Given the description of an element on the screen output the (x, y) to click on. 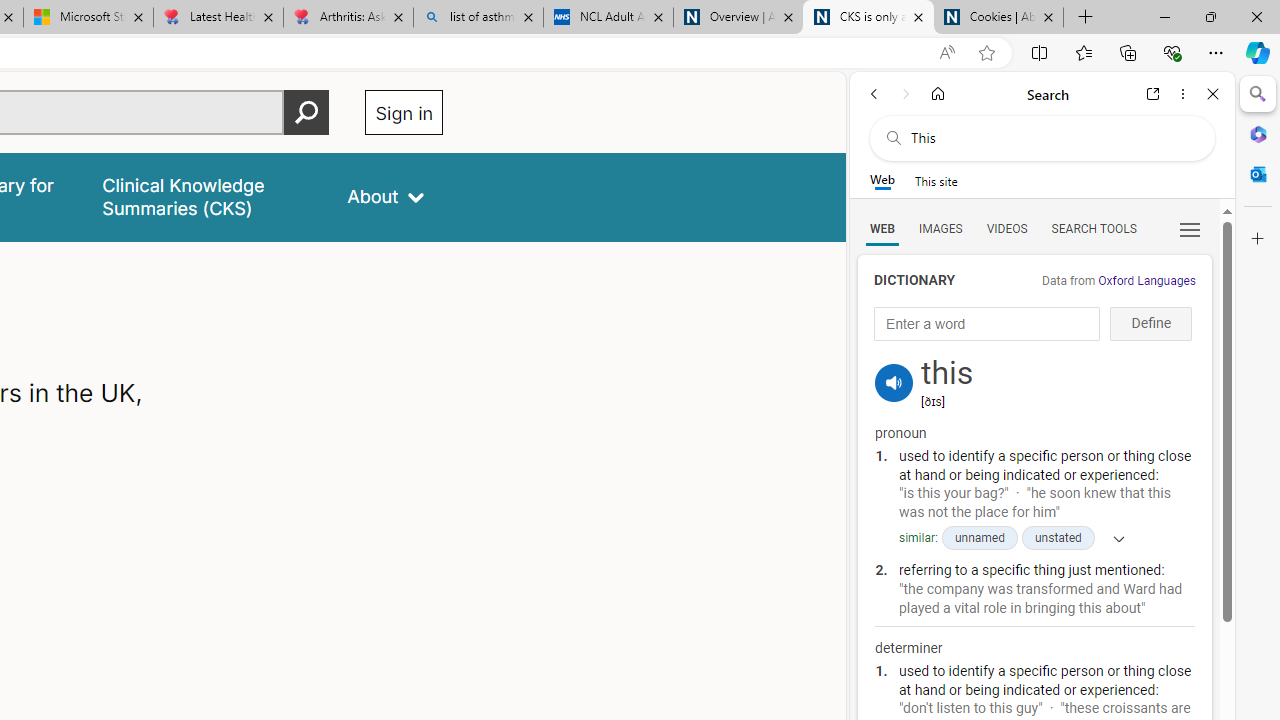
unstated (1057, 538)
unnamed (978, 538)
Show more (1112, 538)
